Given the description of an element on the screen output the (x, y) to click on. 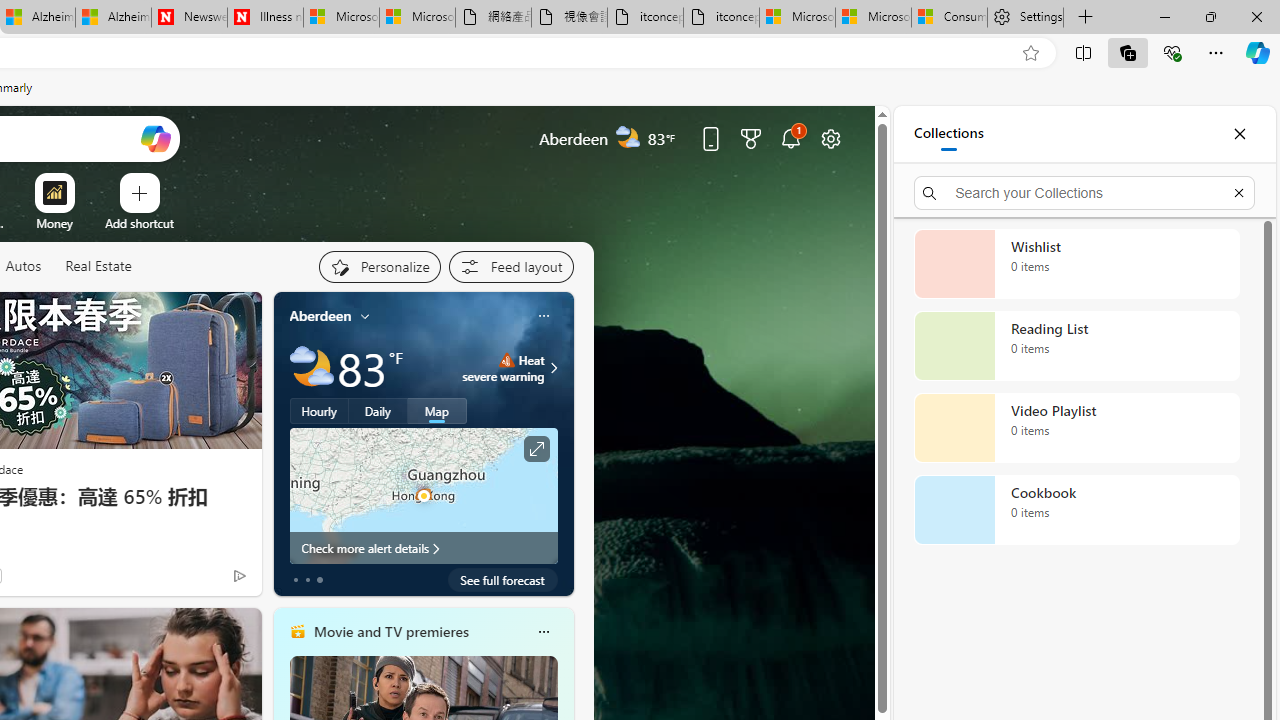
Class: weather-arrow-glyph (554, 367)
Search your Collections (1084, 192)
Partly cloudy (311, 368)
Autos (22, 265)
Consumer Health Data Privacy Policy (948, 17)
Reading List collection, 0 items (1076, 345)
Wishlist collection, 0 items (1076, 263)
